Given the description of an element on the screen output the (x, y) to click on. 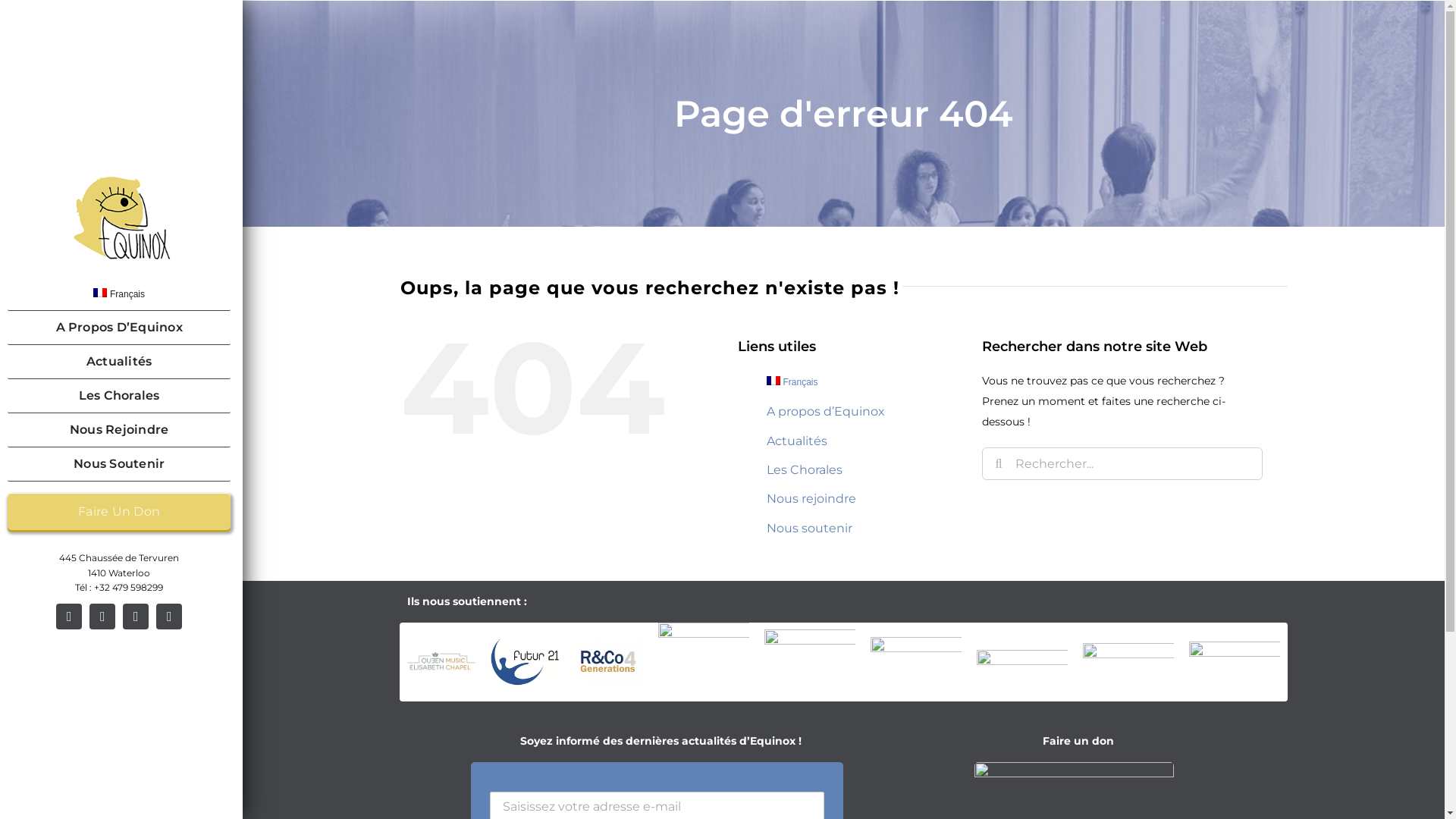
Nous rejoindre Element type: text (811, 498)
Nous Soutenir Element type: text (118, 464)
Nous soutenir Element type: text (809, 527)
Les Chorales Element type: text (118, 396)
Nous Rejoindre Element type: text (118, 430)
Faire Un Don Element type: text (118, 511)
Les Chorales Element type: text (804, 469)
